Given the description of an element on the screen output the (x, y) to click on. 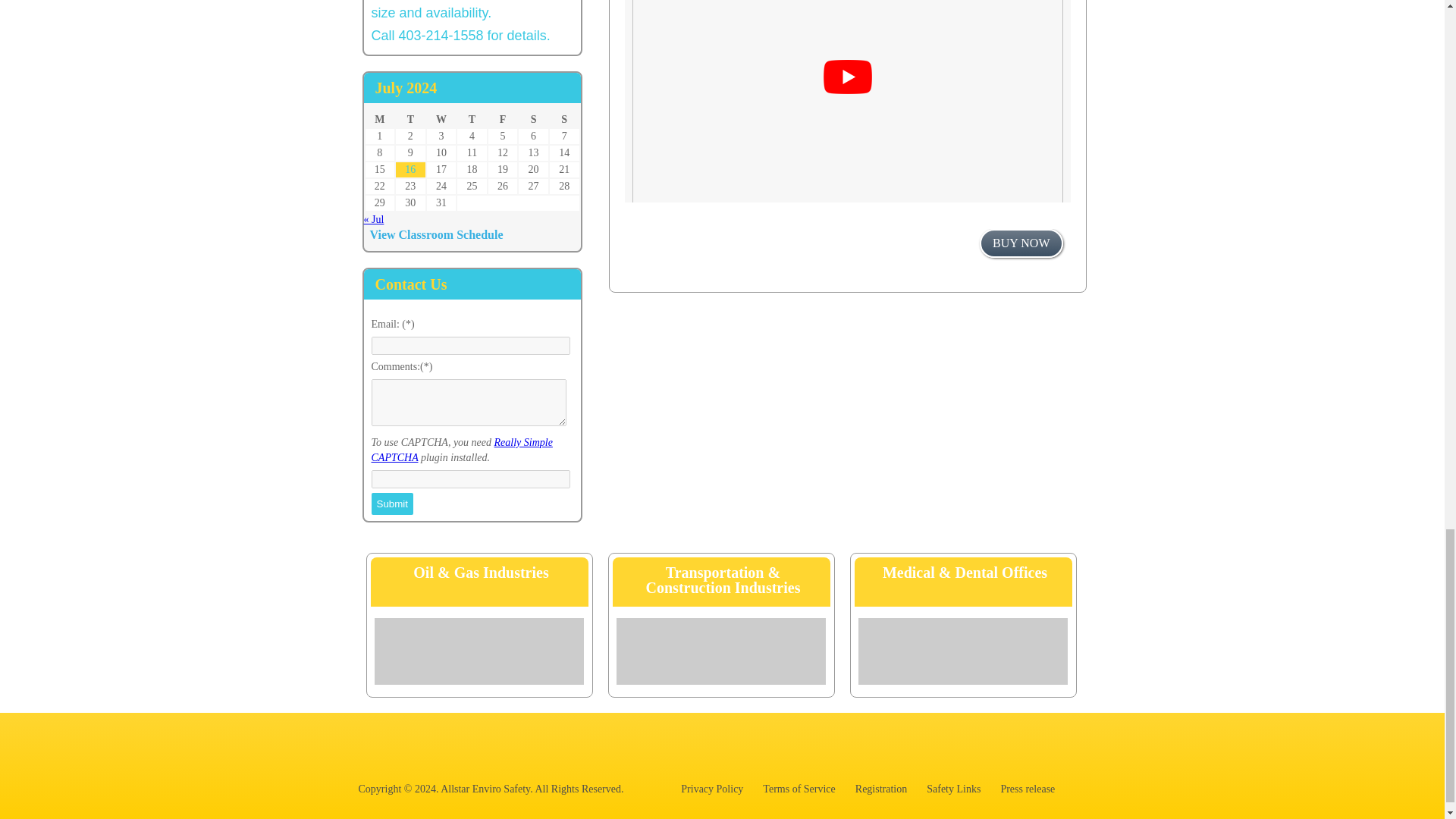
Friday (502, 119)
Thursday (471, 119)
Saturday (533, 119)
Sunday (564, 119)
Submit (392, 504)
Tuesday (410, 119)
Monday (379, 119)
Wednesday (441, 119)
BUY NOW (1020, 243)
